Given the description of an element on the screen output the (x, y) to click on. 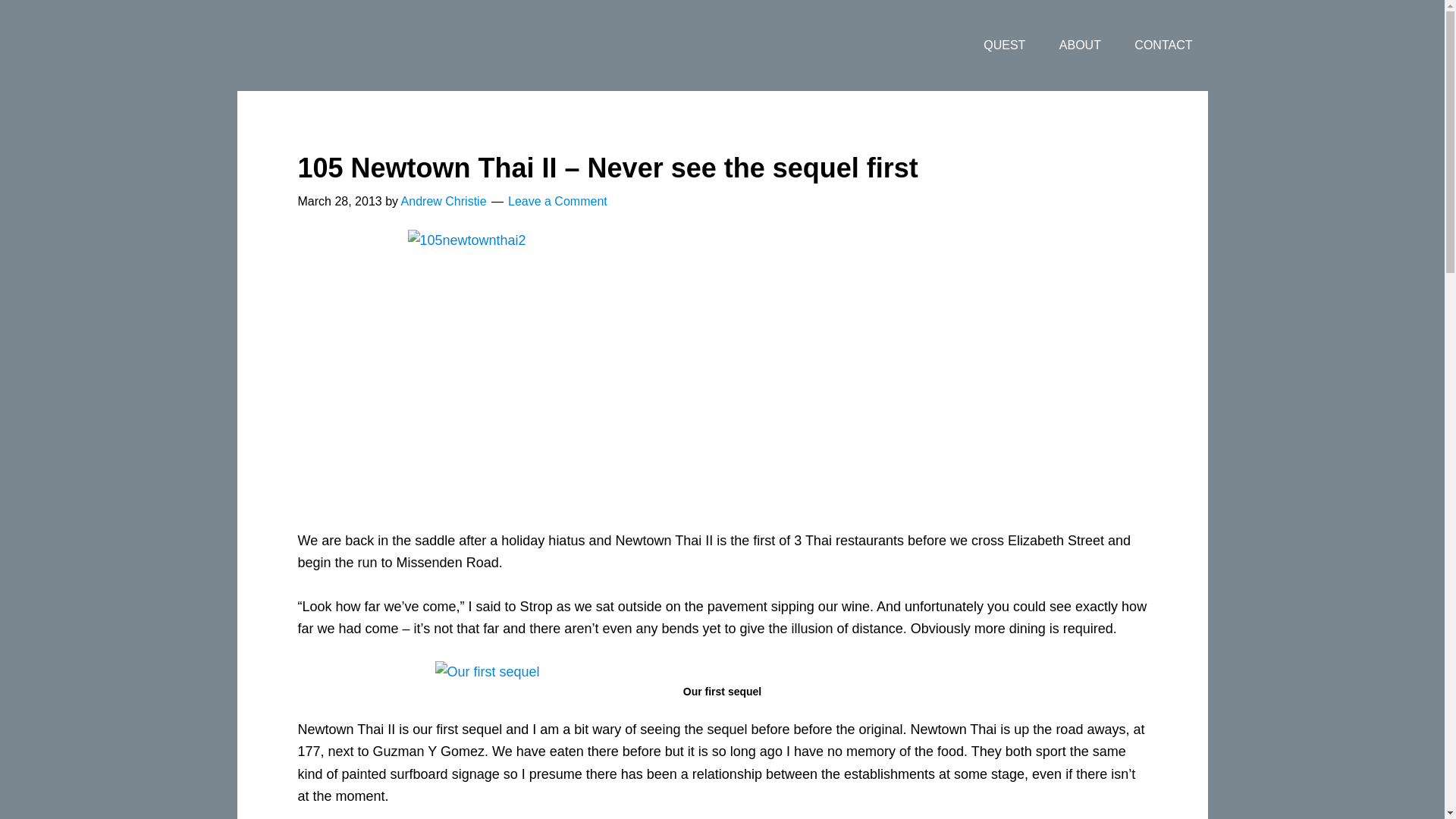
Andrew Christie (443, 201)
Painting the Bridge (357, 45)
QUEST (1004, 45)
Leave a Comment (557, 201)
ABOUT (1079, 45)
CONTACT (1163, 45)
